Given the description of an element on the screen output the (x, y) to click on. 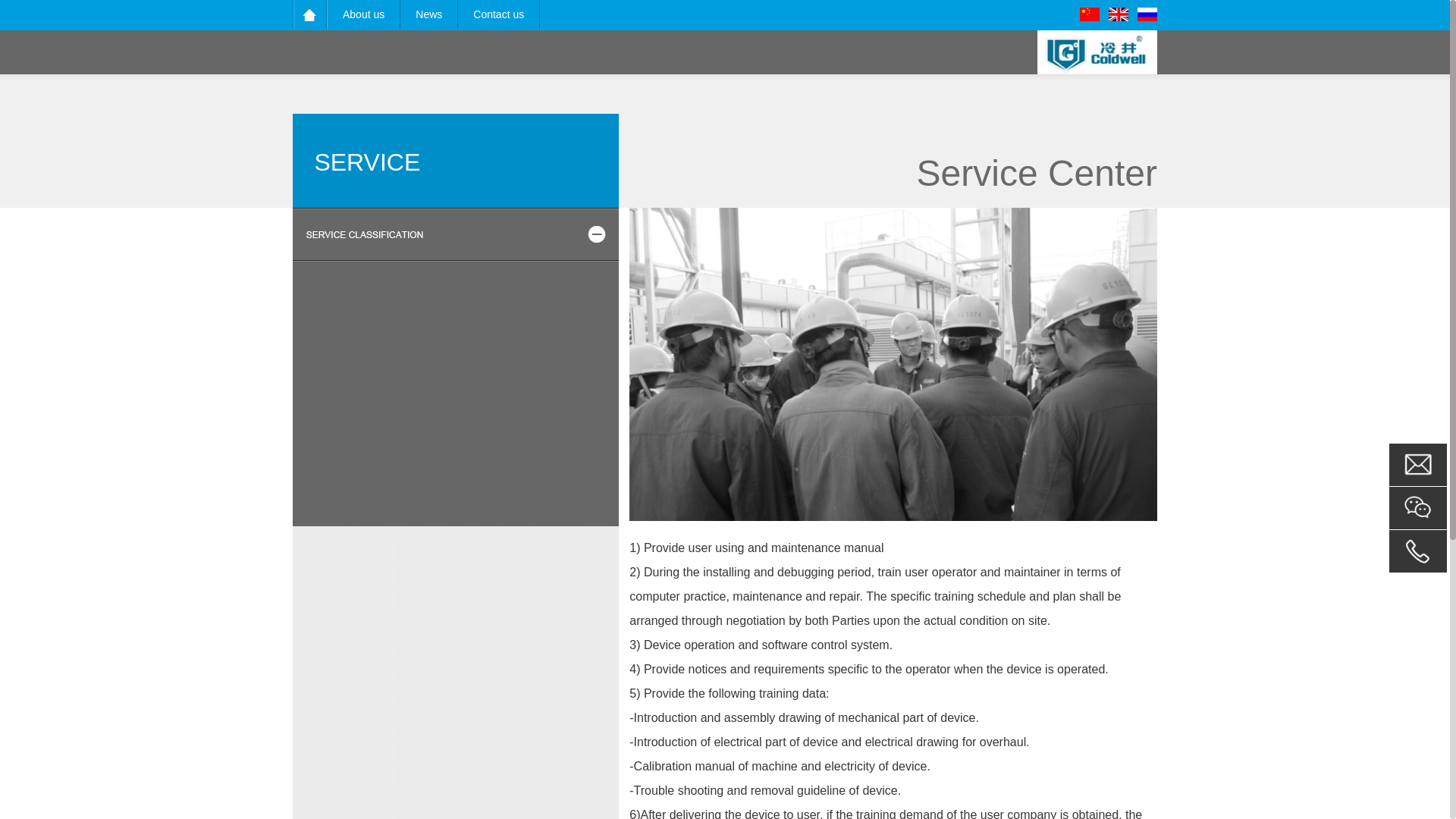
Contact us (498, 14)
News (427, 14)
About us (362, 14)
logo (1108, 52)
